Given the description of an element on the screen output the (x, y) to click on. 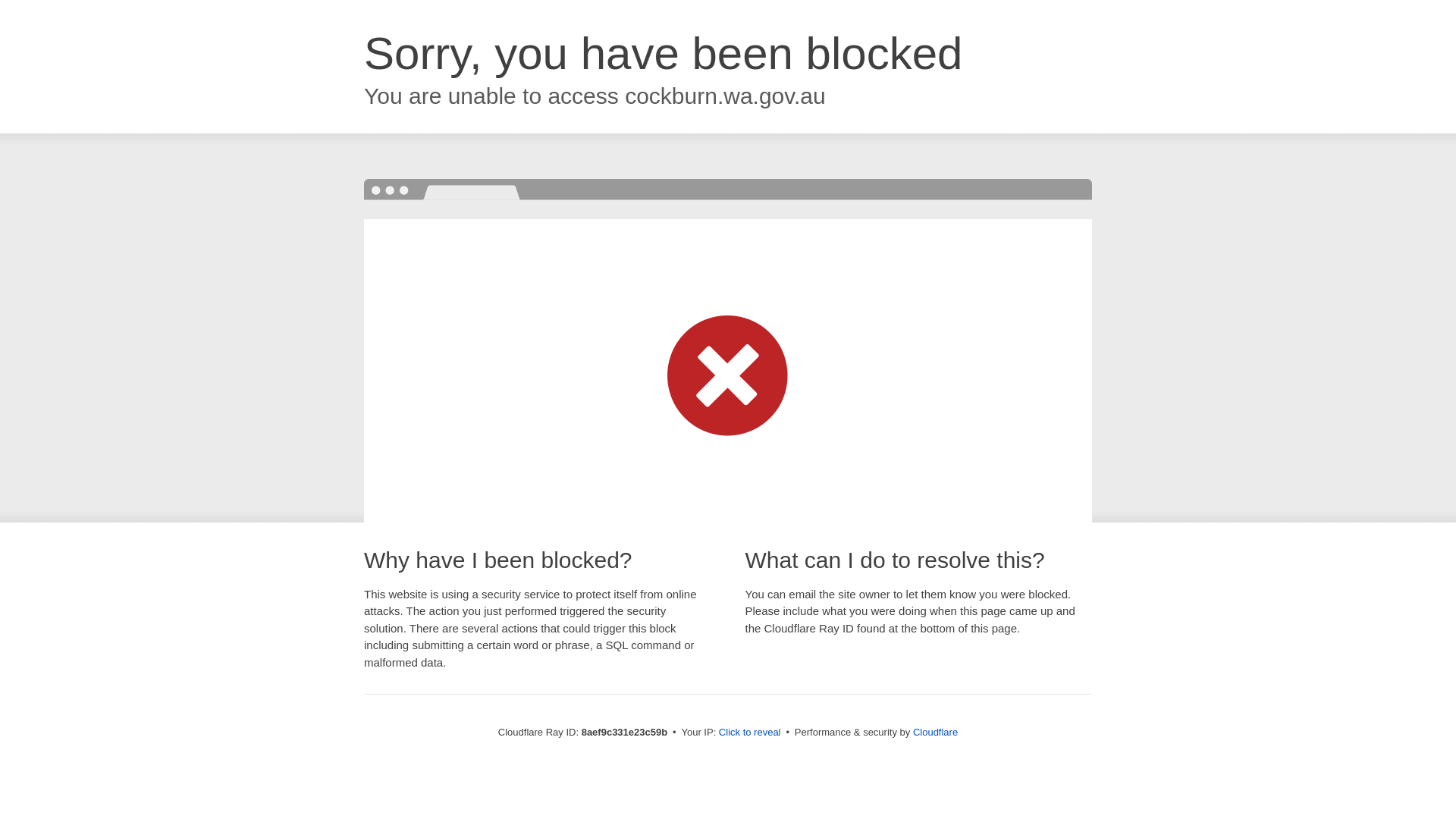
Cloudflare (935, 731)
Click to reveal (749, 732)
